Given the description of an element on the screen output the (x, y) to click on. 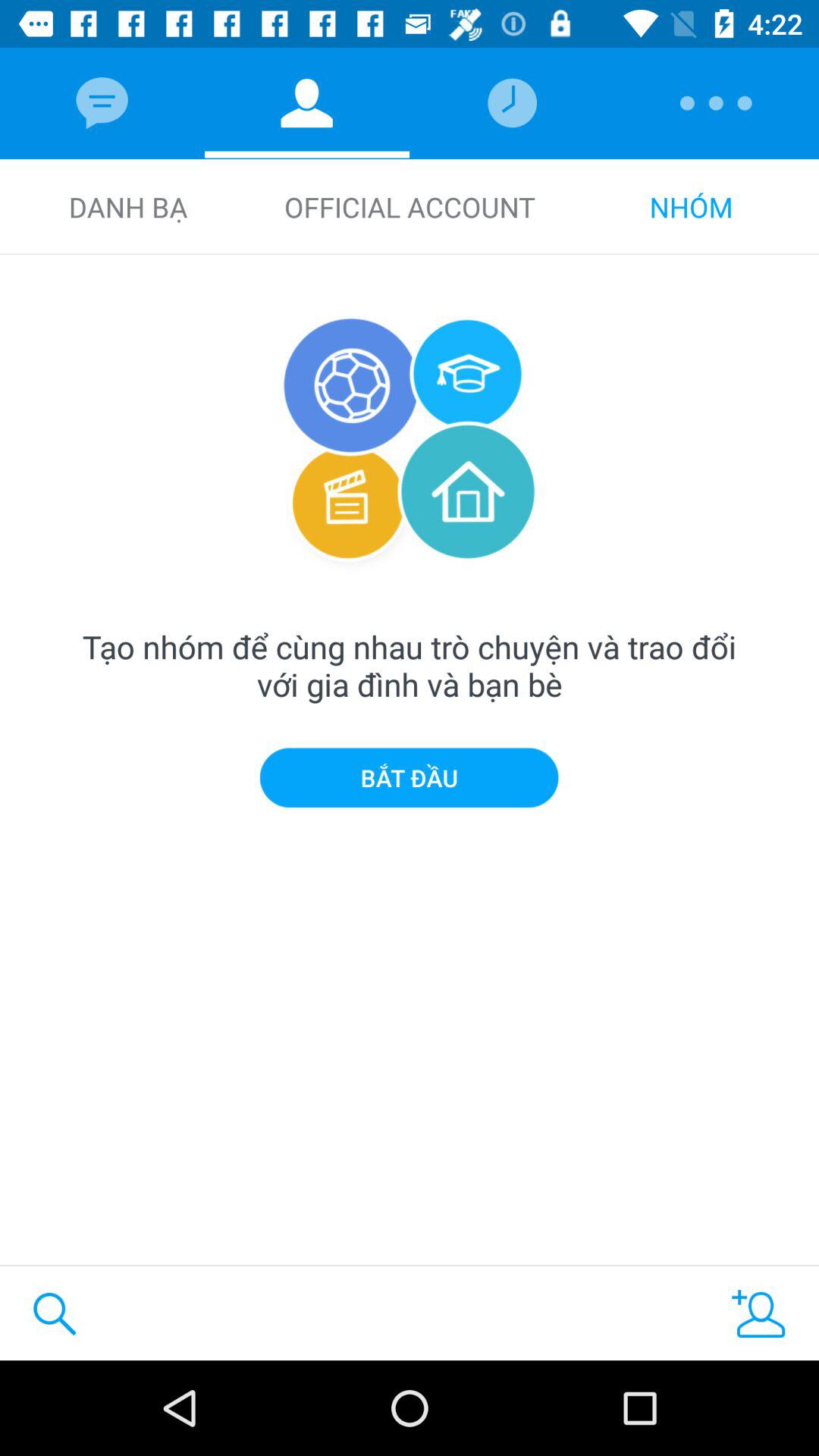
scroll to official account (409, 206)
